Given the description of an element on the screen output the (x, y) to click on. 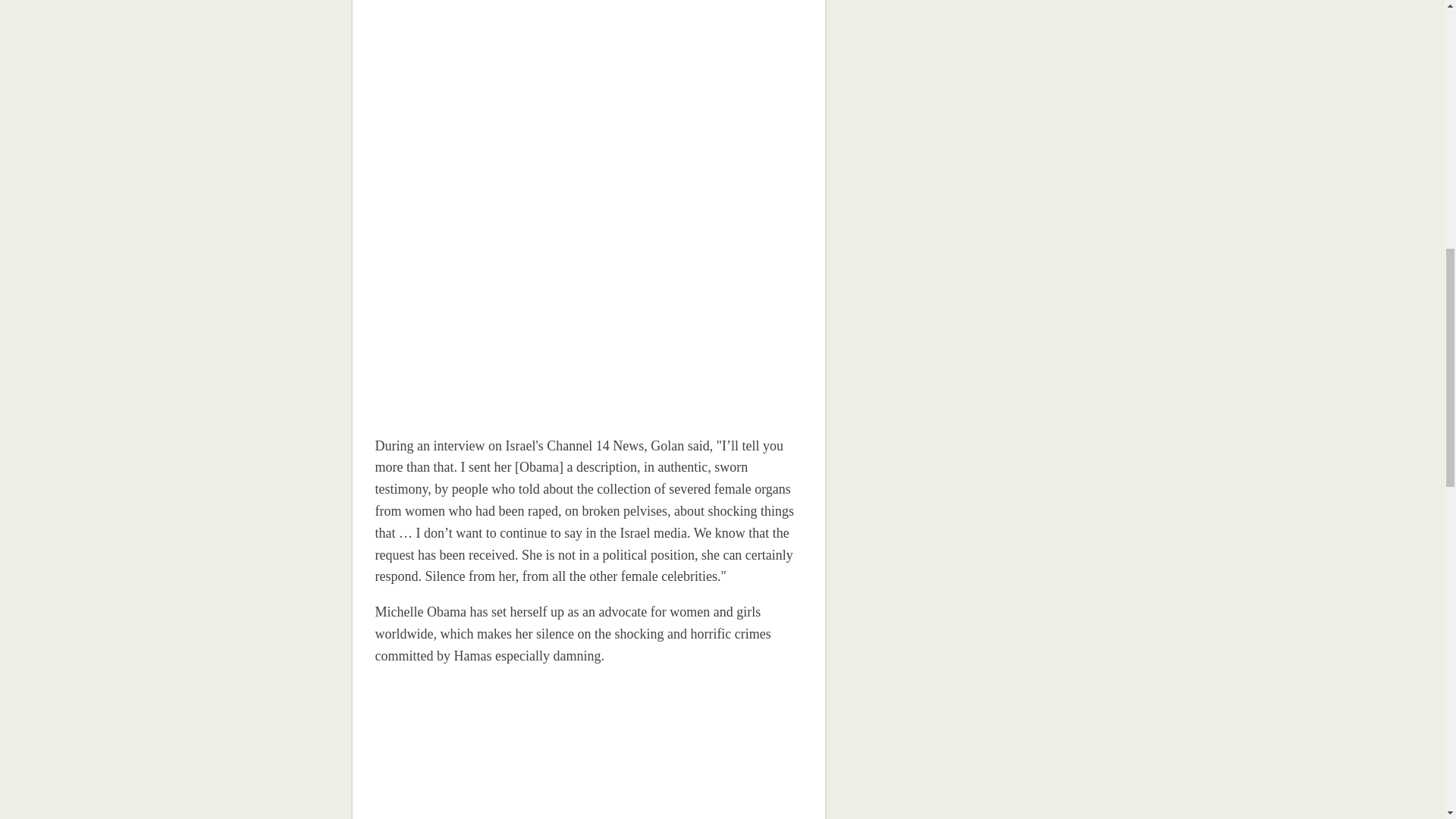
Advertisement (954, 617)
Advertisement (480, 207)
Advertisement (954, 198)
Advertisement (480, 749)
